Given the description of an element on the screen output the (x, y) to click on. 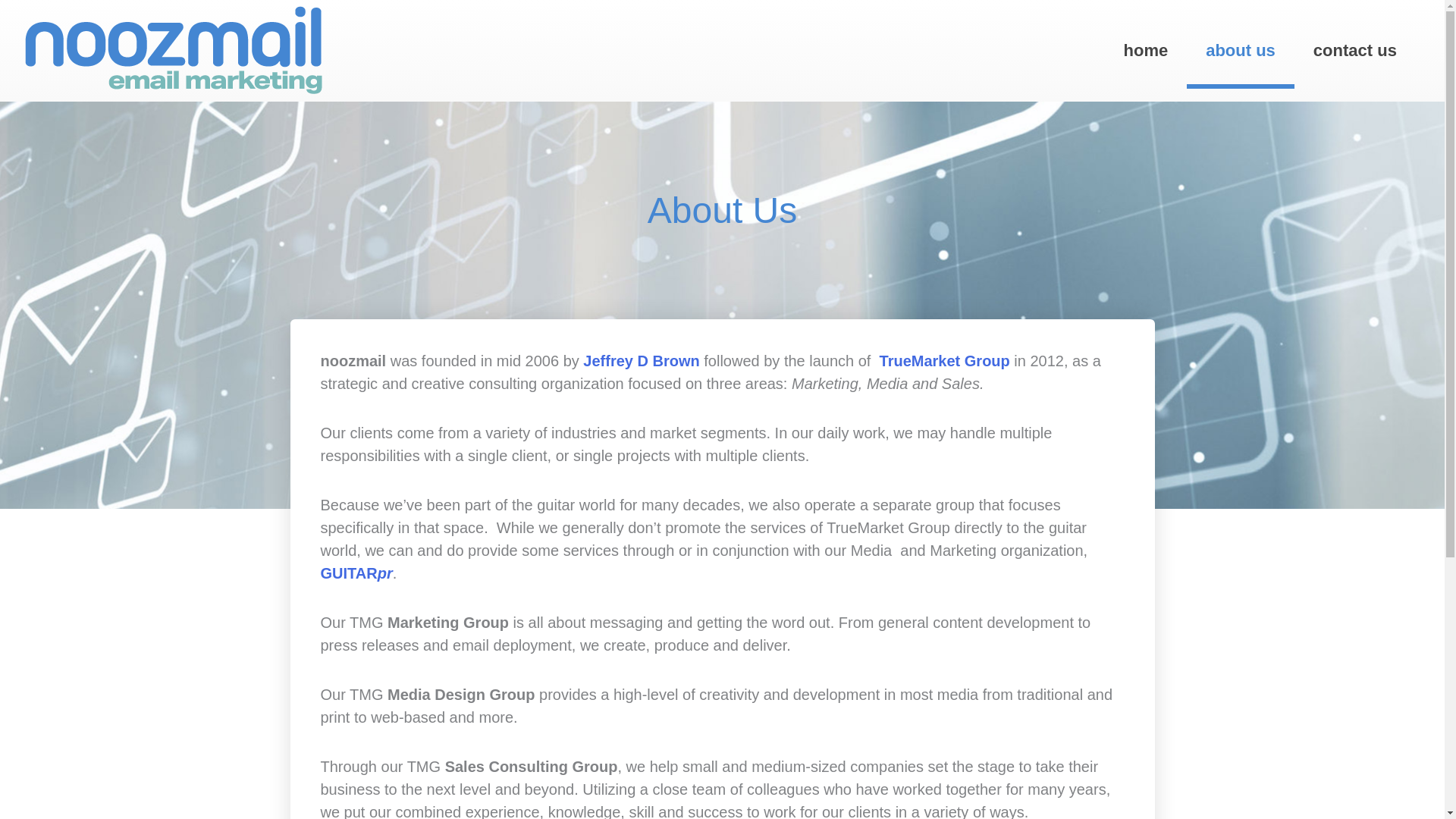
GUITARpr (355, 573)
contact us (1354, 50)
home (1144, 50)
about us (1240, 50)
Jeffrey D Brown (640, 360)
TrueMarket Group (944, 360)
